Given the description of an element on the screen output the (x, y) to click on. 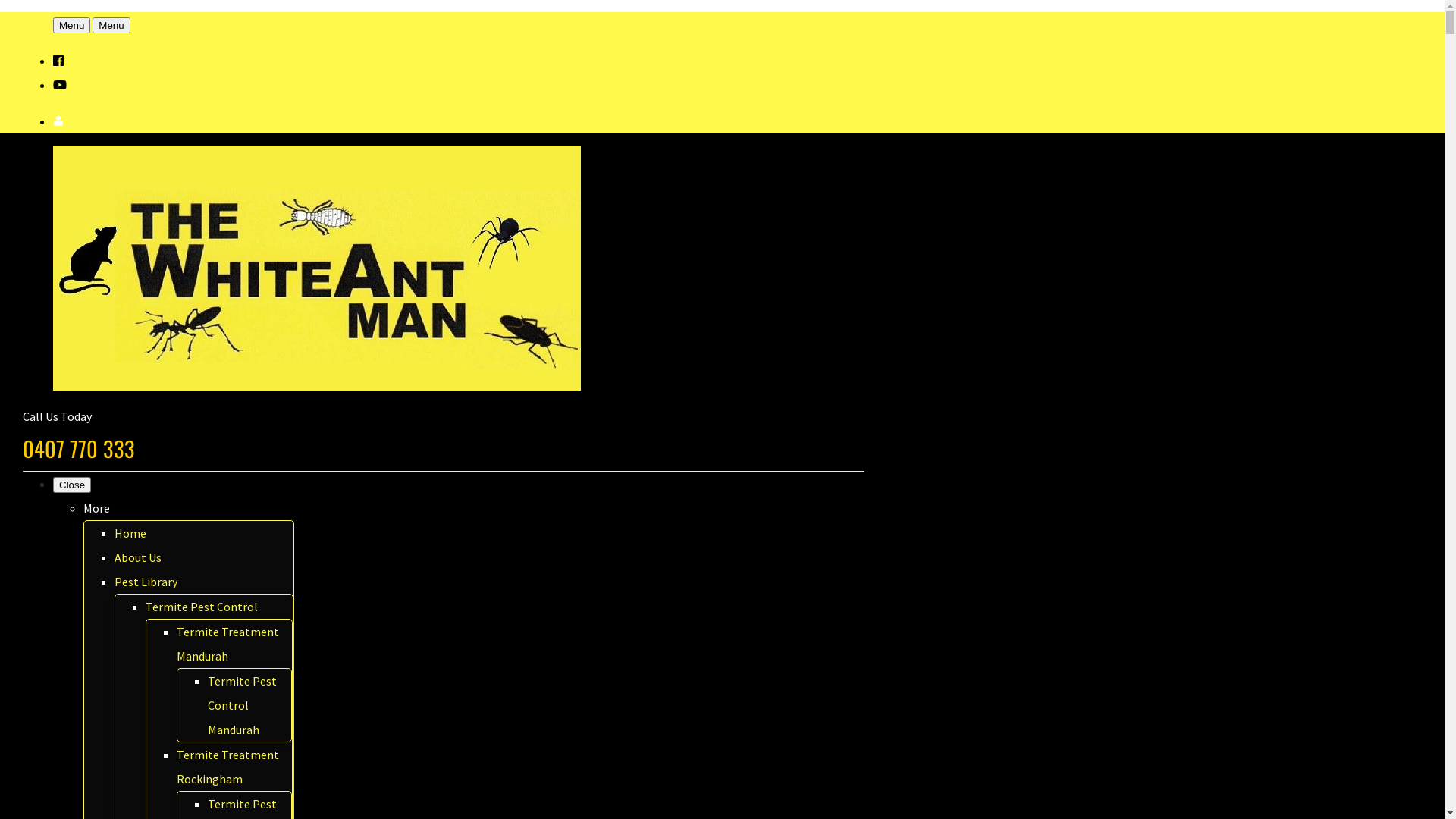
Termite Treatment Mandurah Element type: text (227, 643)
More Element type: text (96, 507)
Home Element type: text (130, 532)
Termite Pest Control Mandurah Element type: text (241, 705)
About Us Element type: text (137, 556)
Pest Library Element type: text (145, 581)
Close Element type: text (72, 484)
facebook Element type: text (58, 60)
Menu Element type: text (110, 25)
Termite Treatment Rockingham Element type: text (227, 766)
Menu Element type: text (71, 25)
0407 770 333 Element type: text (78, 448)
Termite Pest Control Element type: text (201, 606)
youtube Element type: text (59, 84)
